Given the description of an element on the screen output the (x, y) to click on. 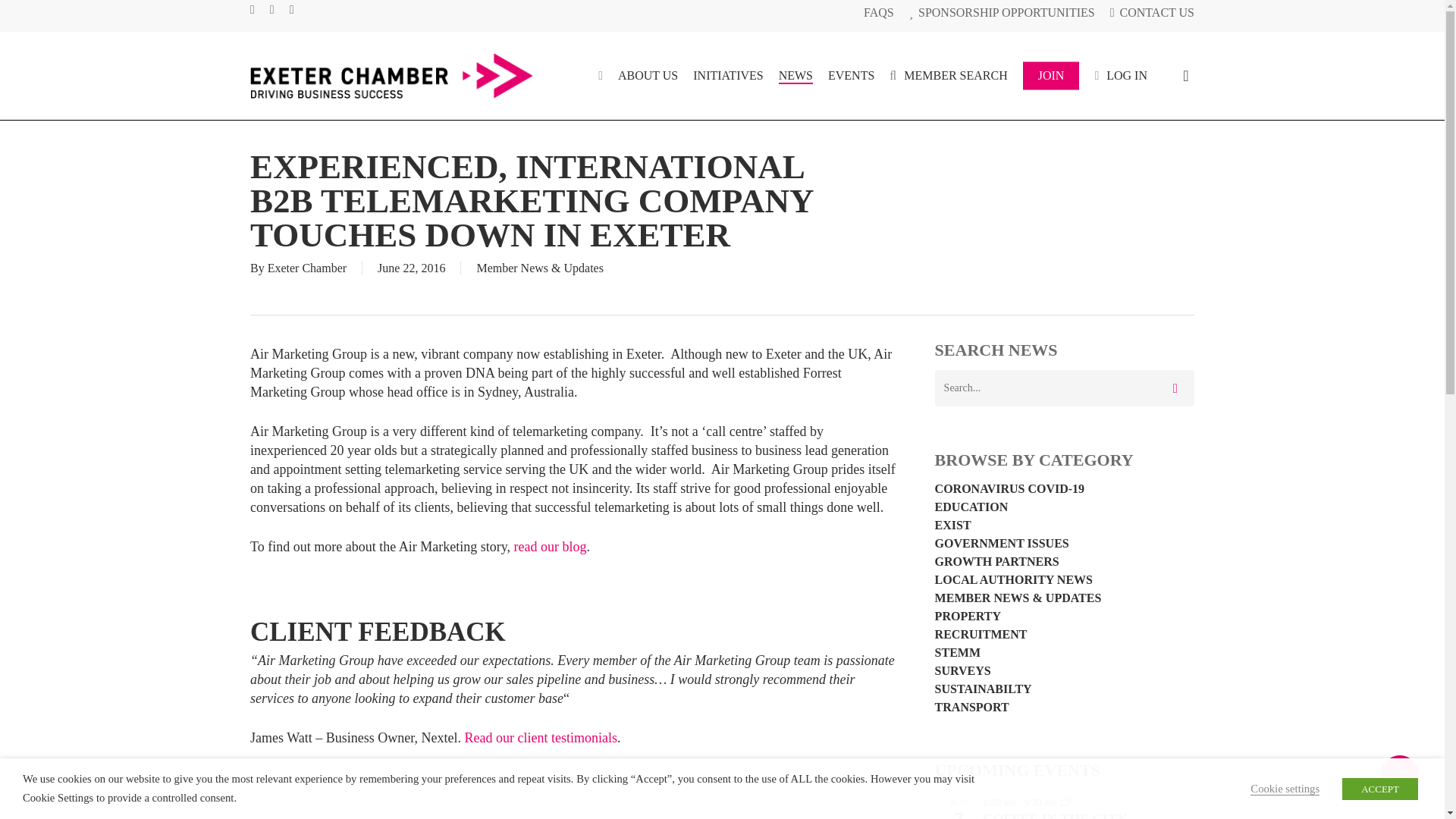
MEMBER SEARCH (948, 75)
SPONSORSHIP OPPORTUNITIES (1001, 12)
Search for: (1063, 388)
JOIN (1051, 75)
Posts by Exeter Chamber (306, 267)
Read our client testimonials (539, 737)
ABOUT US (647, 75)
GROWTH PARTNERS (1063, 562)
CONTACT US (1151, 12)
EVENTS (851, 75)
LOCAL AUTHORITY NEWS (1063, 580)
EDUCATION (1063, 507)
FAQS (878, 12)
CORONAVIRUS COVID-19 (1063, 489)
LOG IN (1120, 75)
